Given the description of an element on the screen output the (x, y) to click on. 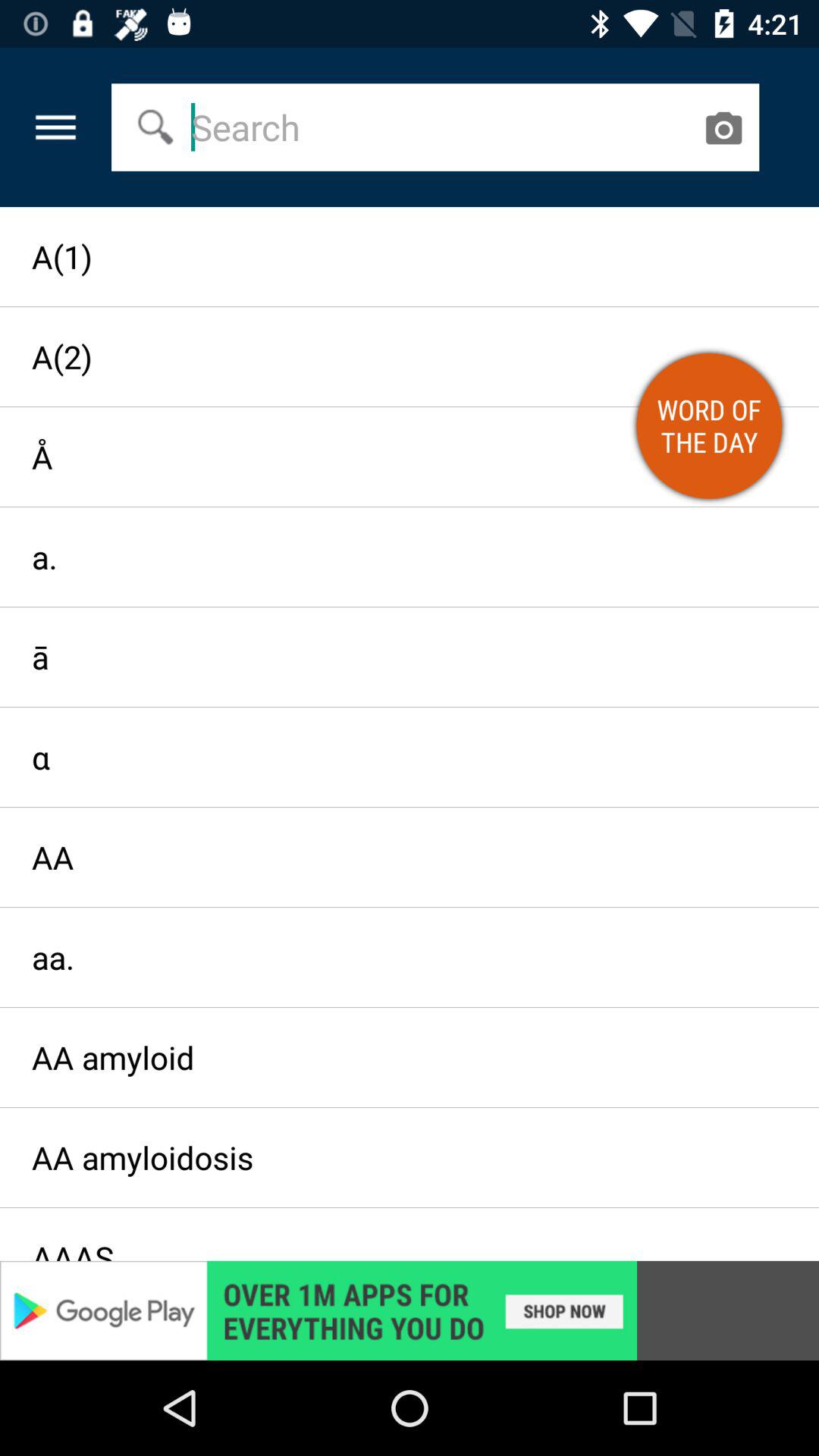
advertisement play store (409, 1310)
